Given the description of an element on the screen output the (x, y) to click on. 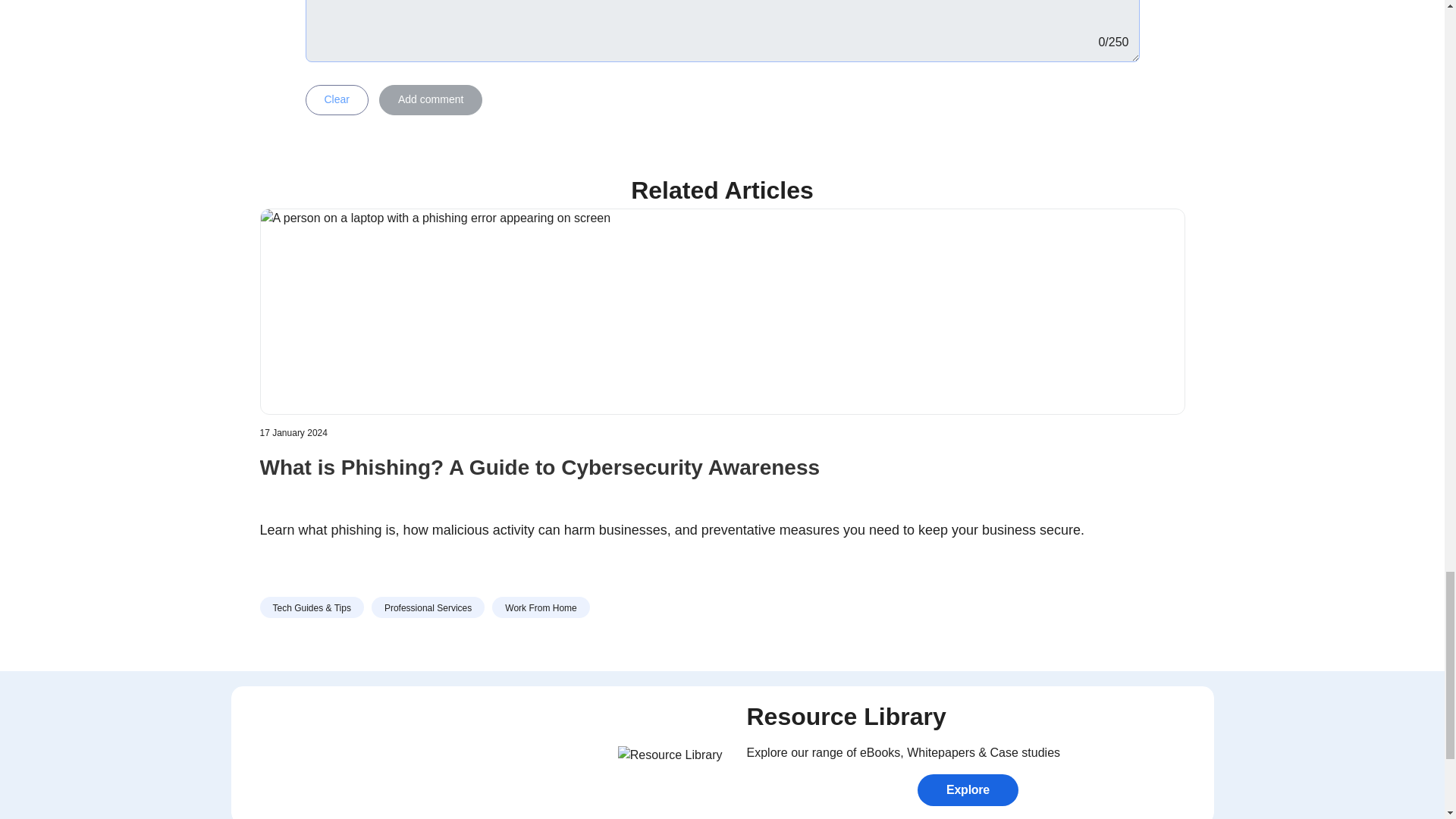
What is Phishing? A Guide to Cybersecurity Awareness (722, 480)
